Given the description of an element on the screen output the (x, y) to click on. 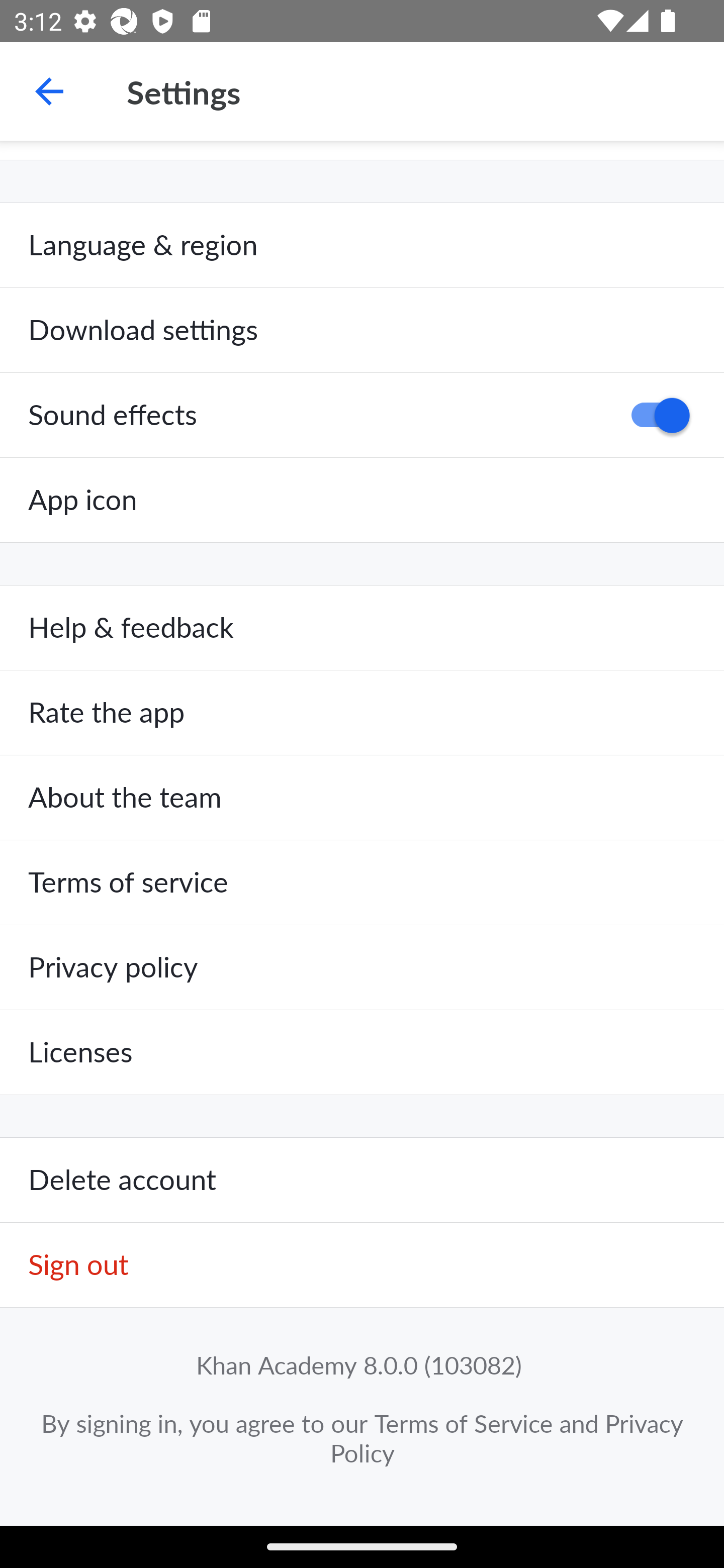
Navigate up (49, 91)
Language & region (362, 245)
Download settings (362, 330)
ON (653, 415)
App icon (362, 499)
Help & feedback (362, 627)
Rate the app (362, 713)
About the team (362, 797)
Terms of service (362, 882)
Privacy policy (362, 967)
Licenses (362, 1051)
Delete account (362, 1180)
Sign out (362, 1265)
